Given the description of an element on the screen output the (x, y) to click on. 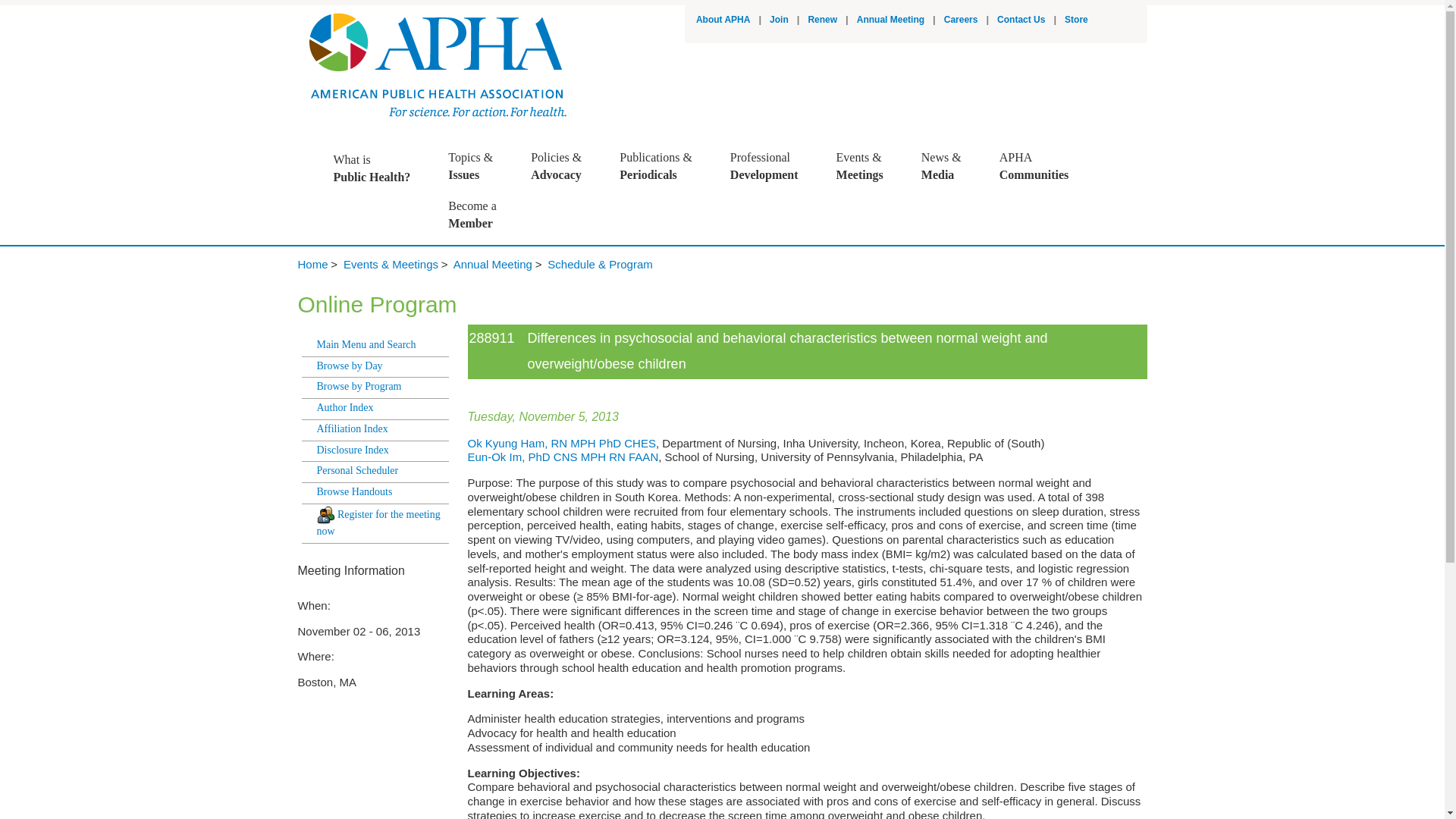
Annual Meeting (890, 19)
Store (1075, 19)
Renew (378, 169)
Contact Us (822, 19)
About APHA (772, 166)
Join (1021, 19)
Careers (723, 19)
